Given the description of an element on the screen output the (x, y) to click on. 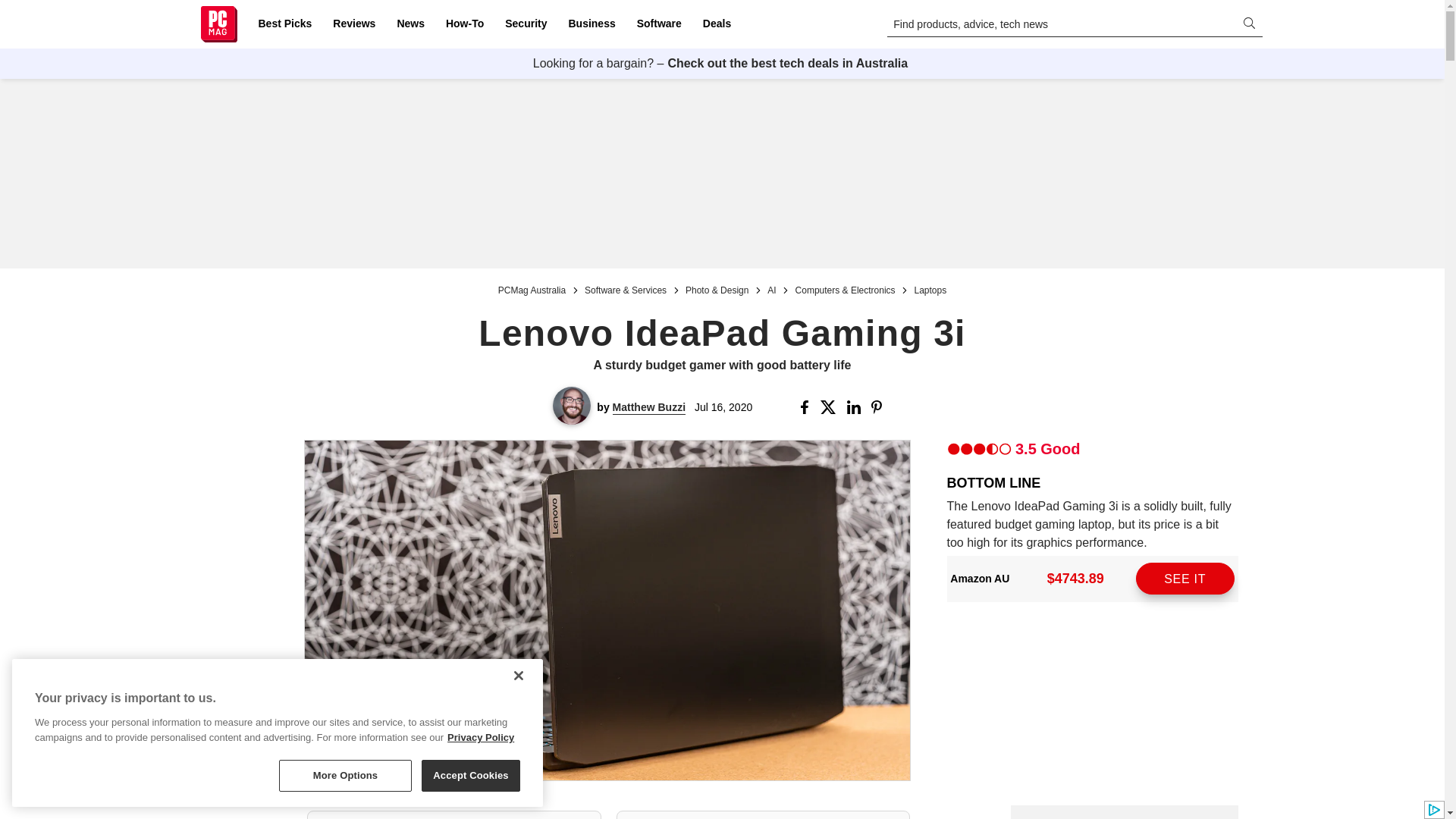
Business (591, 24)
3rd party ad content (721, 173)
How-To (464, 24)
Share this Story on Linkedin (855, 407)
Share this Story on X (831, 407)
Security (526, 24)
Share this Story on Facebook (806, 407)
Share this Story on Pinterest (880, 407)
Reviews (353, 24)
3rd party ad content (1123, 812)
Best Picks (284, 24)
